Given the description of an element on the screen output the (x, y) to click on. 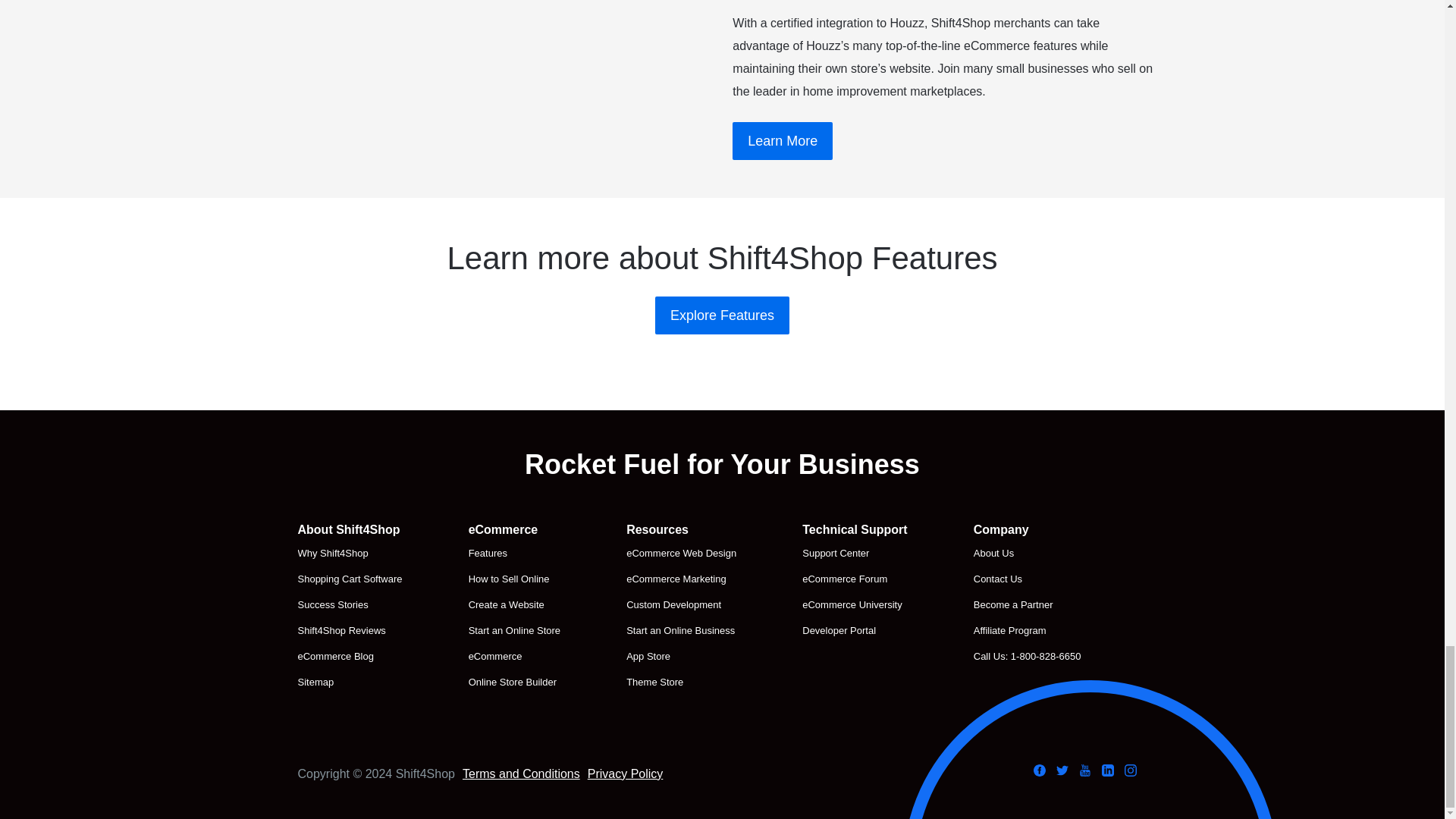
Success Stories (349, 604)
How to Sell Online (514, 578)
eCommerce Blog (349, 656)
Learn More (782, 140)
eCommerce Web Design (681, 553)
Explore Features (722, 315)
Shopping Cart Software (349, 578)
Create a Website (514, 604)
Online Store Builder (514, 681)
eCommerce Marketing (681, 578)
